Given the description of an element on the screen output the (x, y) to click on. 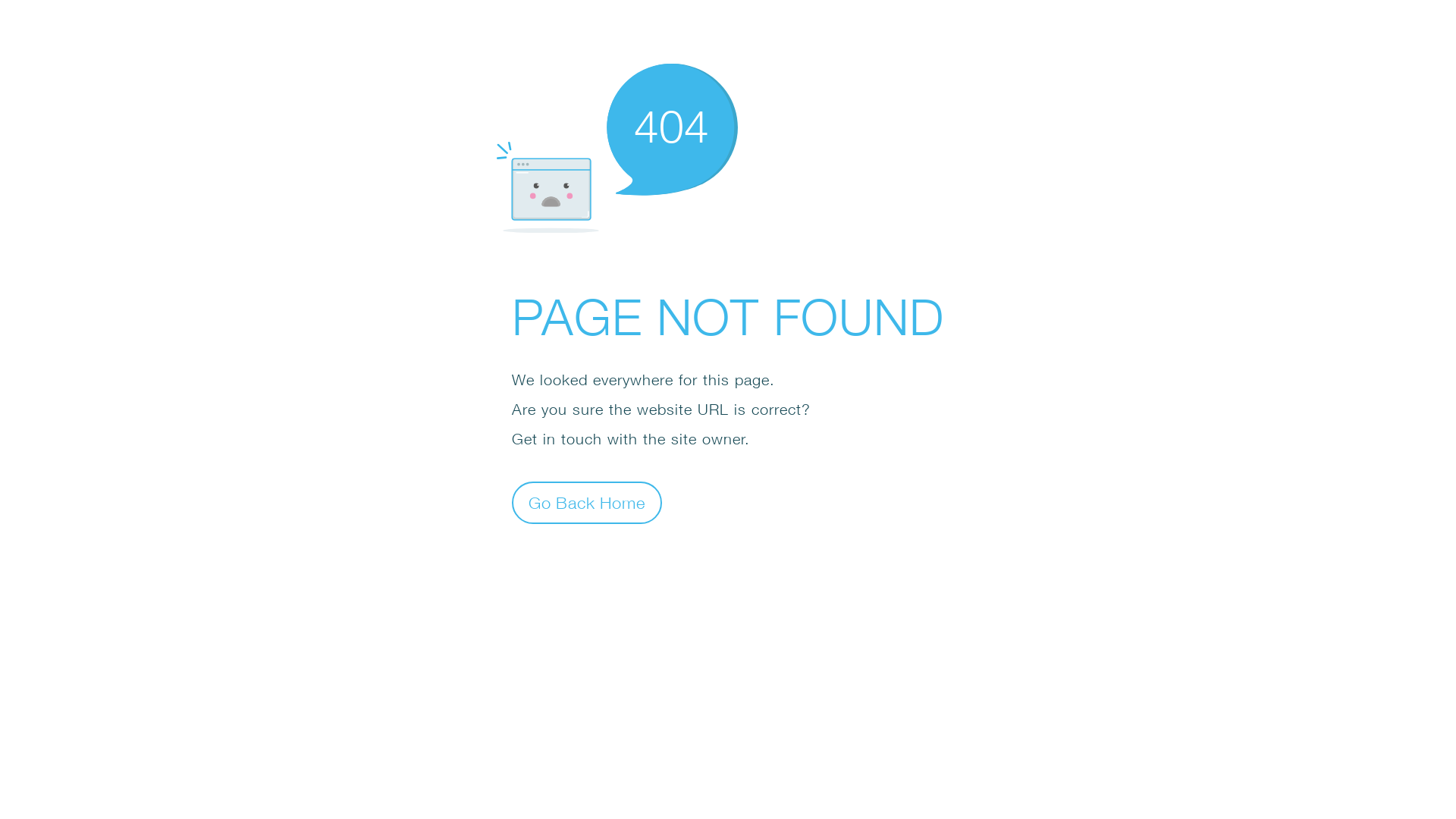
Go Back Home Element type: text (586, 502)
